Given the description of an element on the screen output the (x, y) to click on. 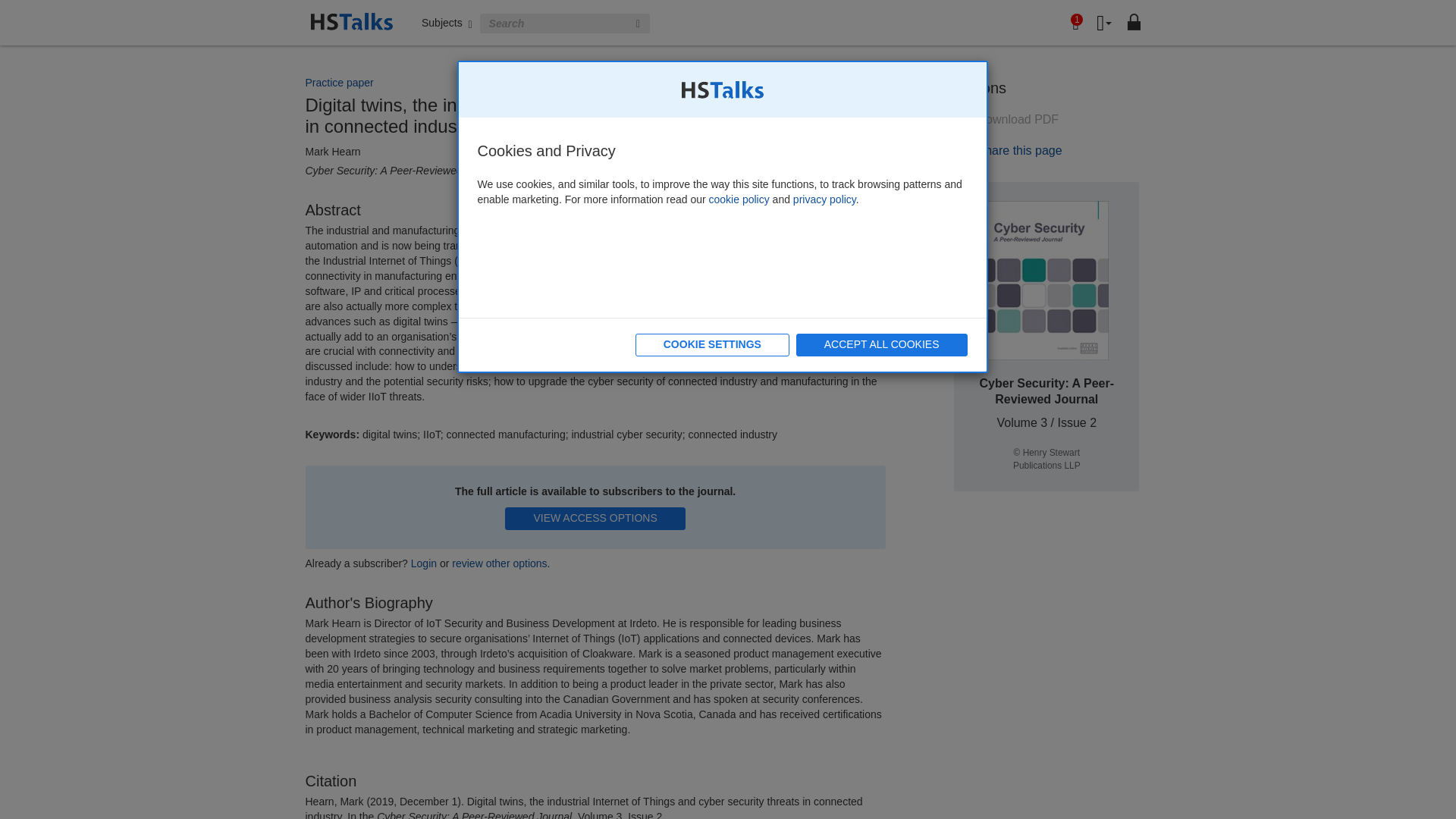
User (1104, 23)
Login (423, 563)
Search (638, 23)
Subjects   (446, 22)
review other options (499, 563)
Download PDF (1005, 119)
Share this page (1007, 150)
VIEW ACCESS OPTIONS (594, 517)
